Given the description of an element on the screen output the (x, y) to click on. 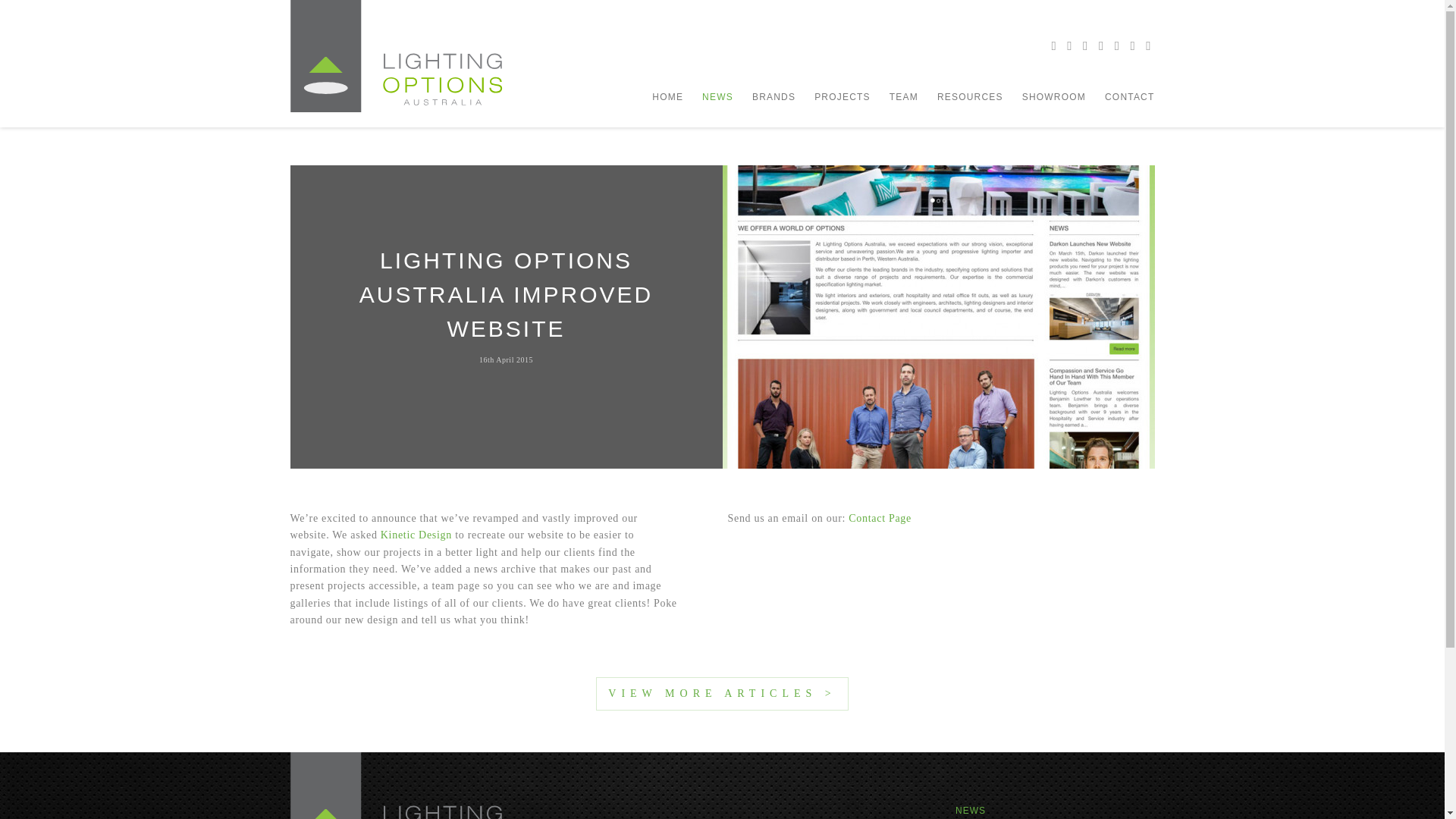
RESOURCES (970, 96)
SHOWROOM (1054, 96)
CONTACT (1129, 96)
Click here to return home. (395, 56)
Kinetic Design (415, 534)
NEWS (970, 810)
HOME (667, 96)
Contact Page (879, 518)
BRANDS (773, 96)
PROJECTS (841, 96)
